Given the description of an element on the screen output the (x, y) to click on. 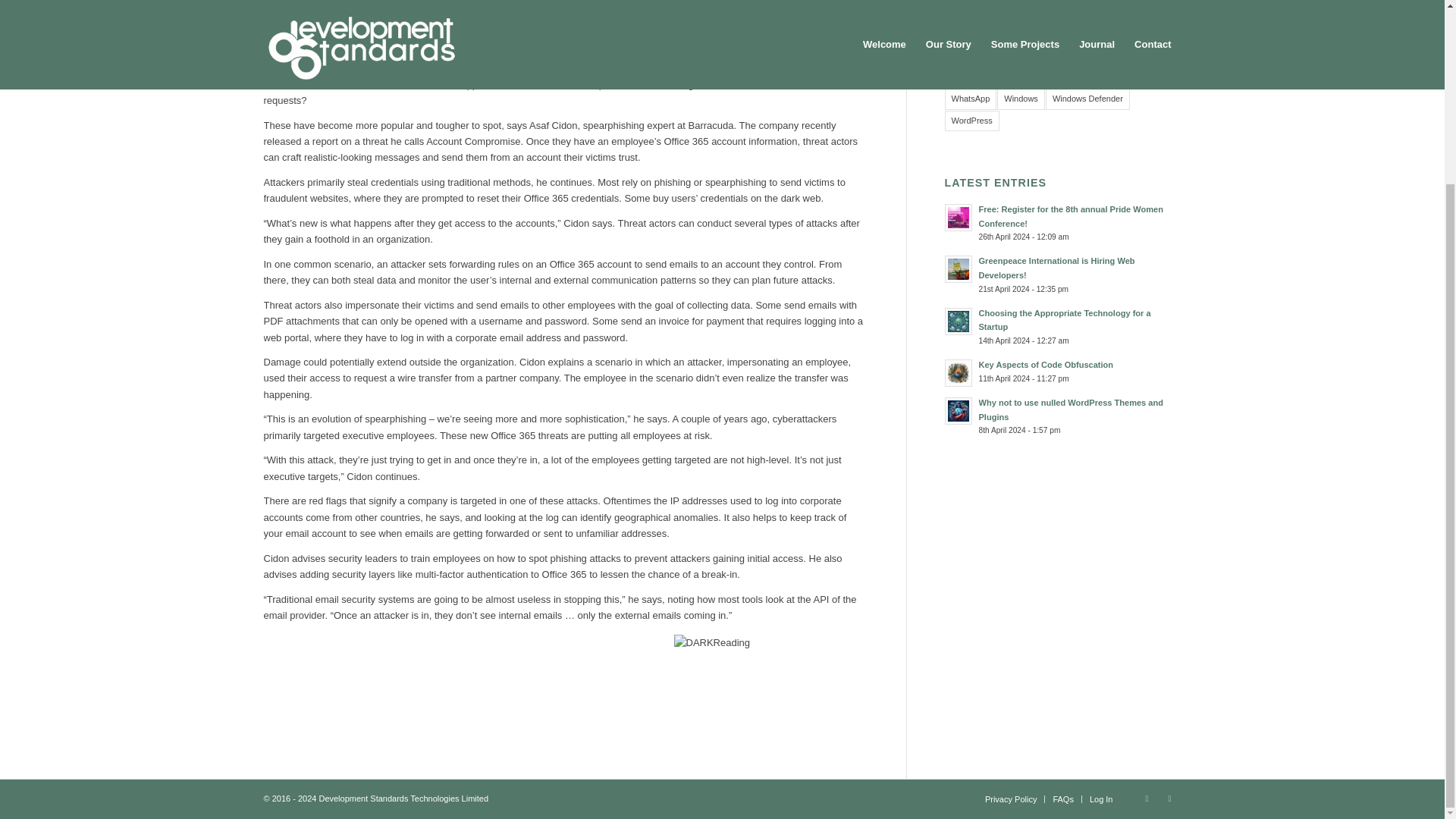
North Korea (1138, 12)
Iran (1098, 0)
Facebook (1169, 798)
Kaspersky (1139, 0)
Malware (997, 12)
Hardware (1058, 0)
Twitter (1146, 798)
Microsoft (1044, 12)
Read: Choosing the Appropriate Technology for a Startup (1064, 319)
Hacking (1011, 0)
source (769, 649)
Nigeria (1088, 12)
Password (969, 34)
Research (969, 55)
